Given the description of an element on the screen output the (x, y) to click on. 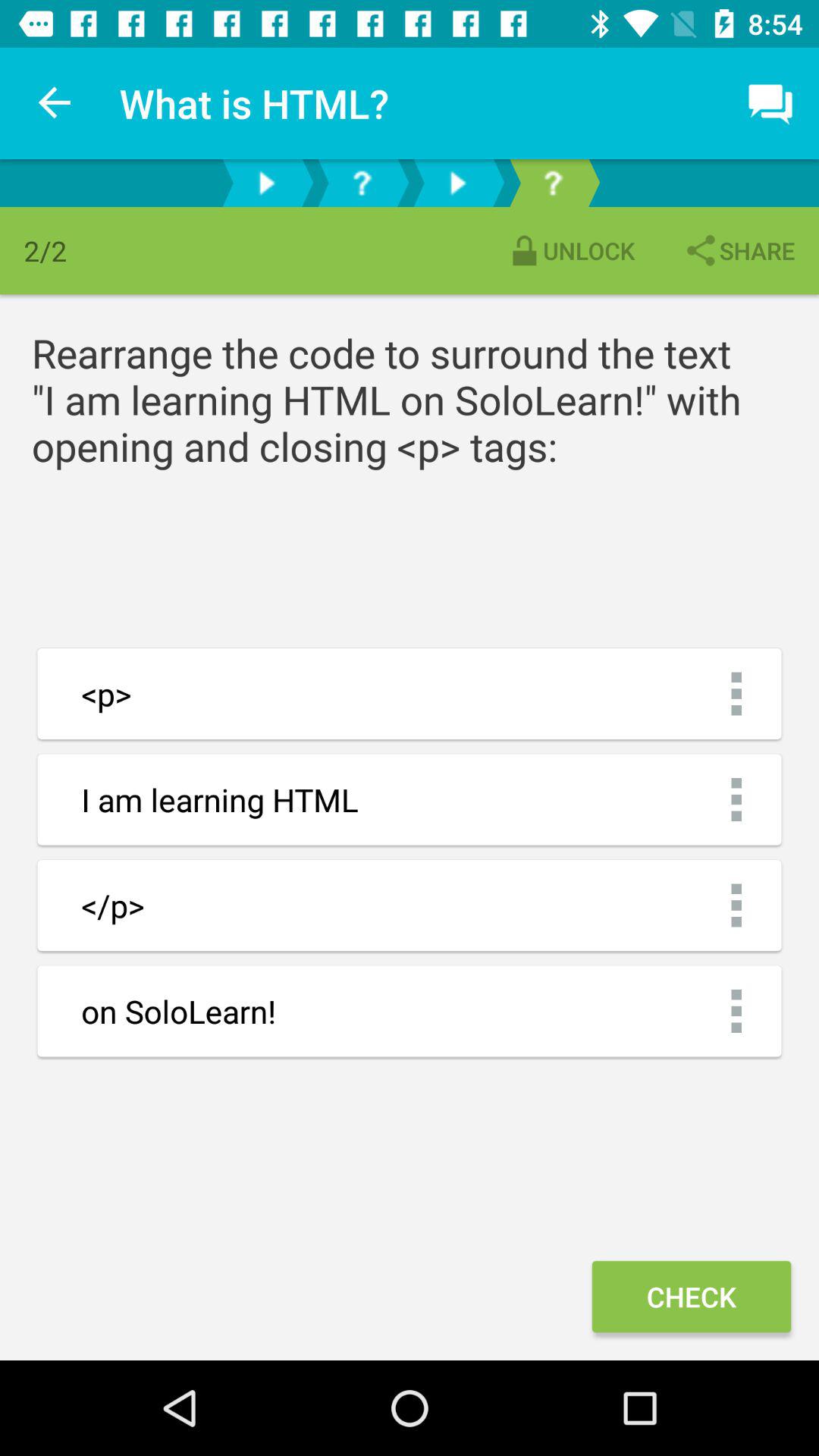
go to the play button left of  (265, 182)
select i am learning html which is below  p on the page (409, 798)
select the button which is below the button i am learning html (409, 904)
click on the second next arrow button to the right of  symbol (457, 182)
on sololearn (409, 1011)
click check box (691, 1296)
select the icon share  (739, 250)
